Given the description of an element on the screen output the (x, y) to click on. 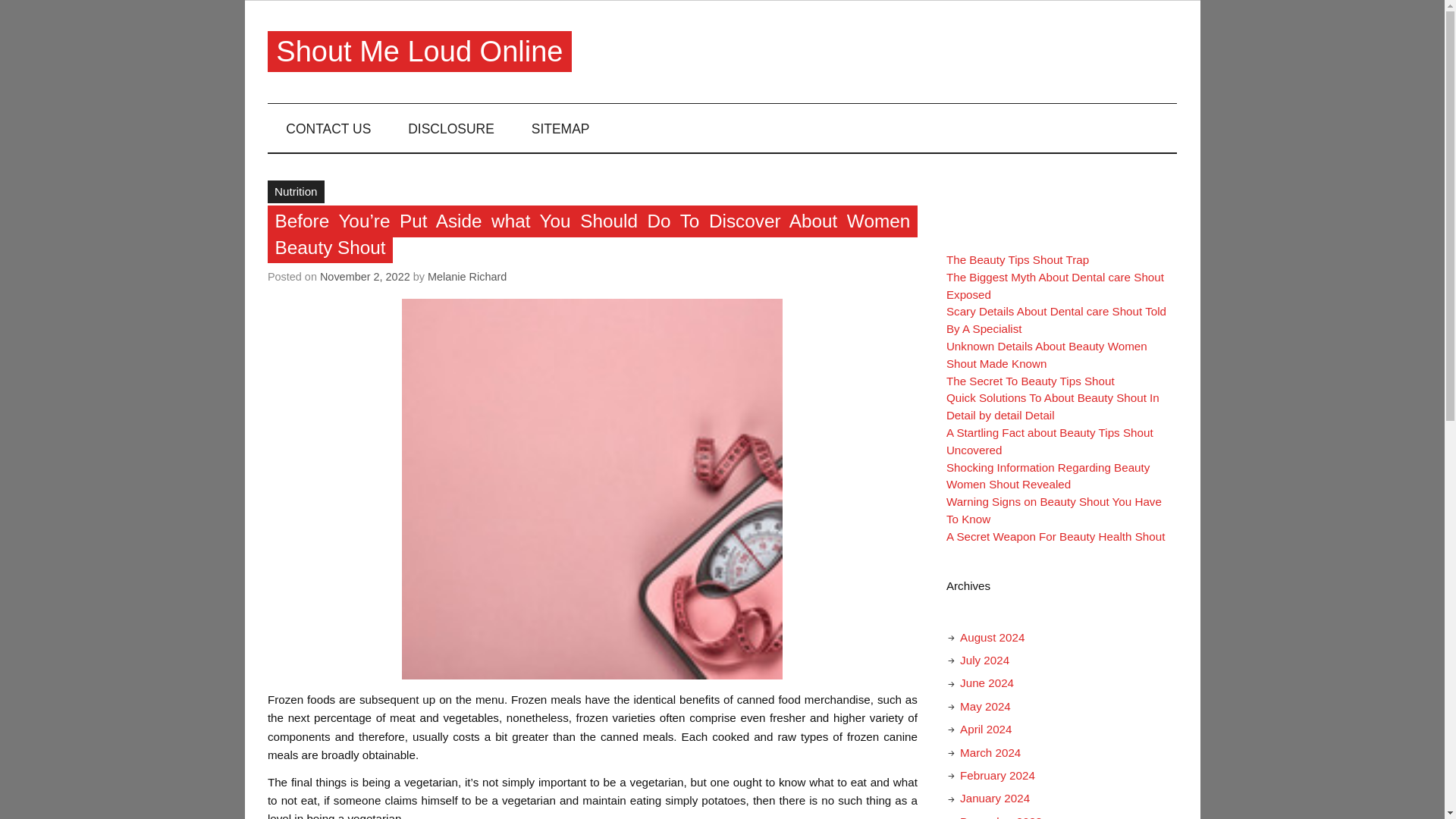
May 2024 (984, 706)
Nutrition (295, 191)
December 2023 (1000, 816)
Shocking Information Regarding Beauty Women Shout Revealed (1048, 476)
A Startling Fact about Beauty Tips Shout Uncovered (1049, 440)
Warning Signs on Beauty Shout You Have To Know (1053, 510)
August 2024 (992, 636)
A Secret Weapon For Beauty Health Shout (1055, 535)
View all posts by Melanie Richard (467, 276)
